Given the description of an element on the screen output the (x, y) to click on. 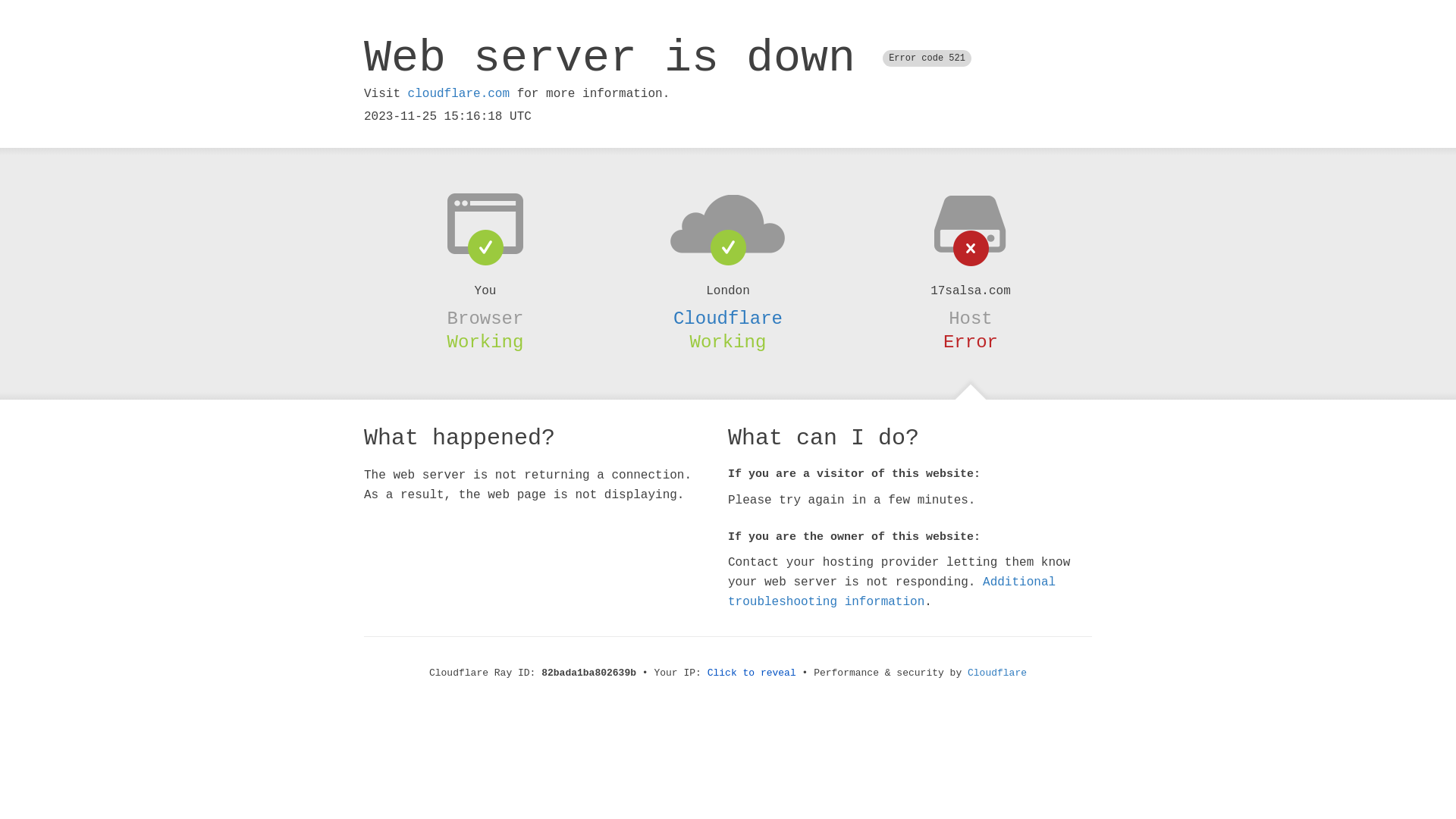
cloudflare.com Element type: text (458, 93)
Additional troubleshooting information Element type: text (891, 591)
Cloudflare Element type: text (996, 672)
Cloudflare Element type: text (727, 318)
Click to reveal Element type: text (751, 672)
